Given the description of an element on the screen output the (x, y) to click on. 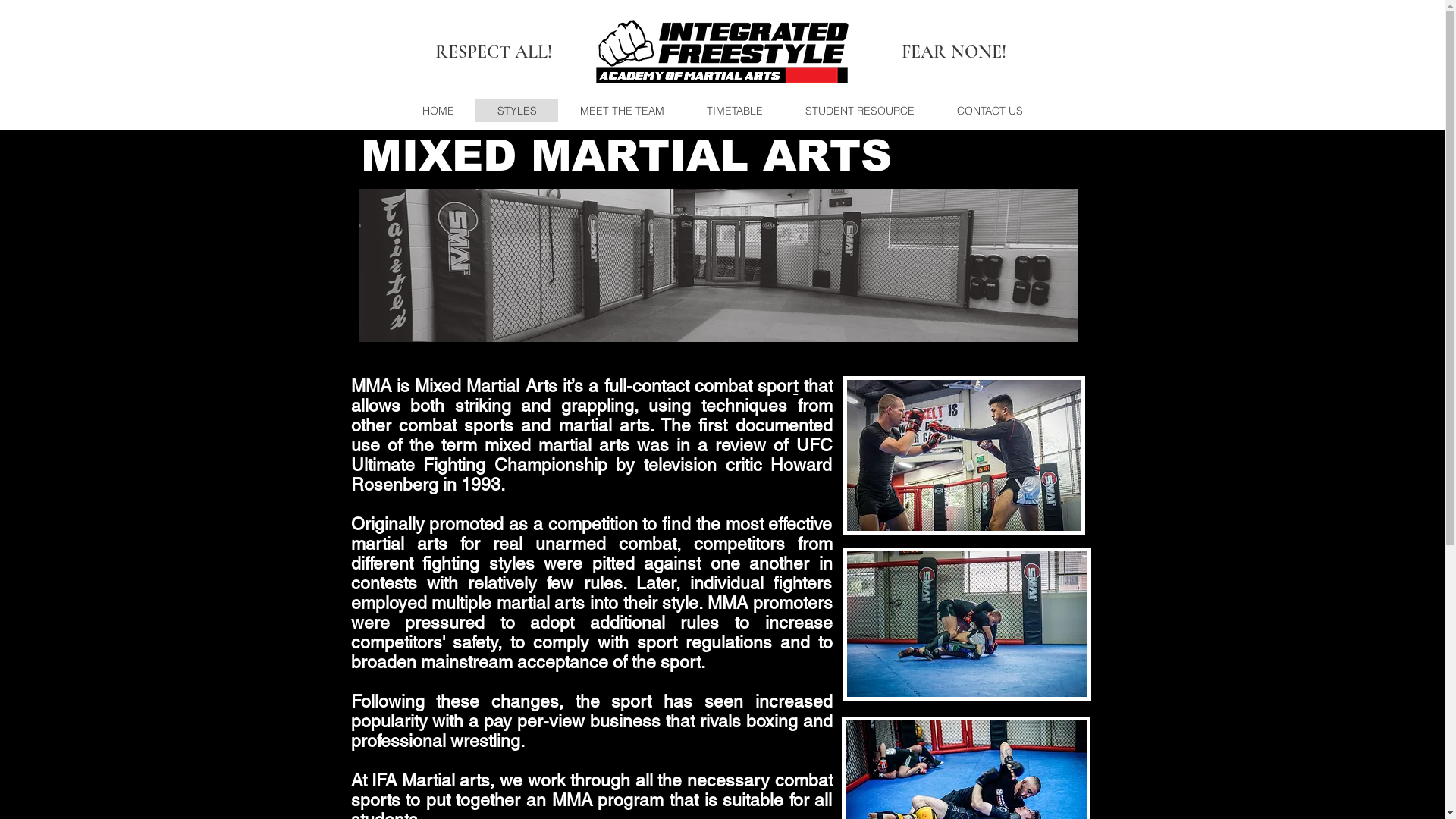
TIMETABLE Element type: text (734, 110)
HOME Element type: text (437, 110)
STYLES Element type: text (515, 110)
t Element type: text (795, 385)
CONTACT US Element type: text (989, 110)
STUDENT RESOURCE Element type: text (859, 110)
MEET THE TEAM Element type: text (621, 110)
